Given the description of an element on the screen output the (x, y) to click on. 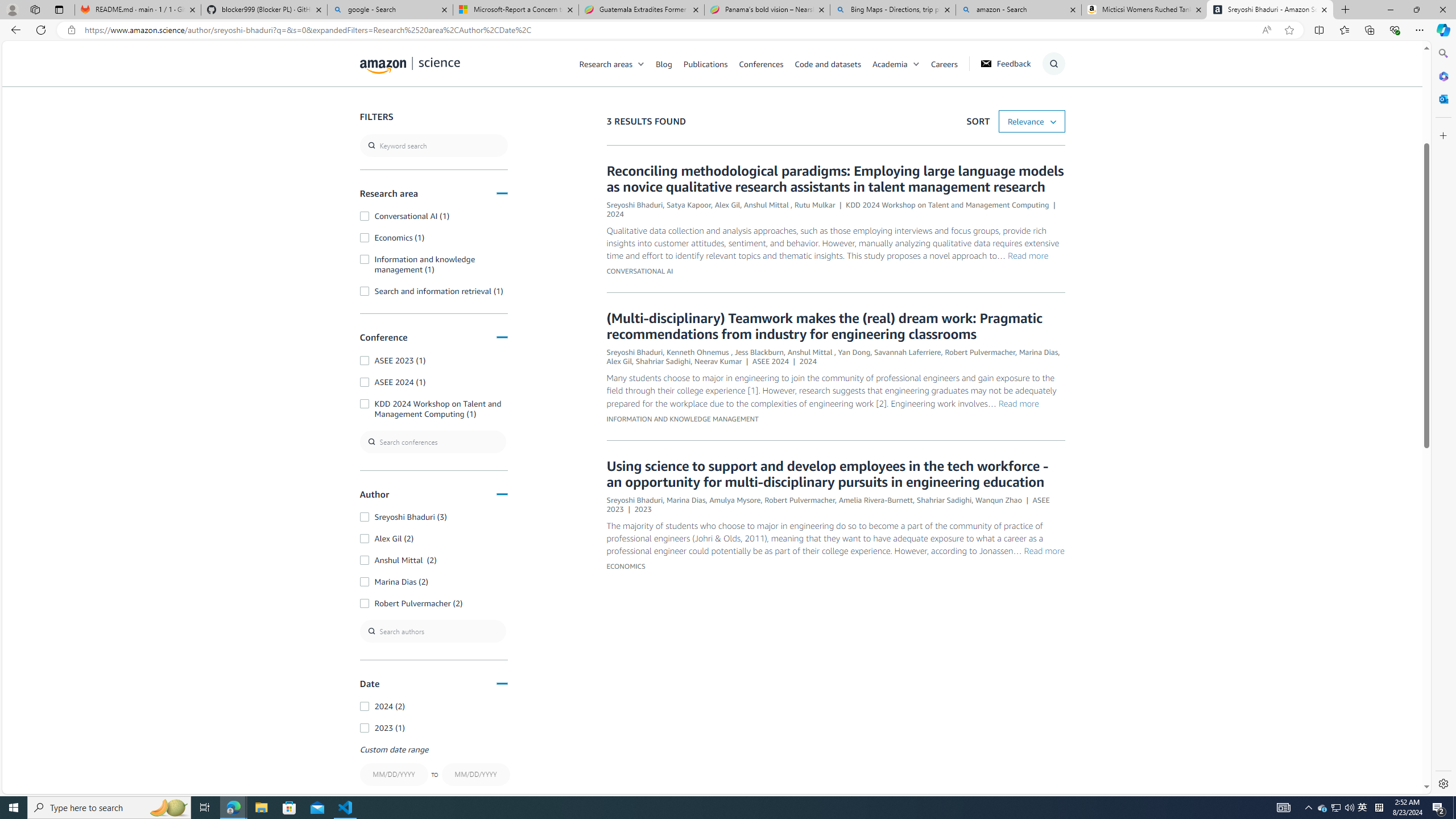
Show Search Form (1053, 63)
SORT (1031, 121)
Rutu Mulkar (814, 204)
Conferences (760, 63)
KDD 2024 Workshop on Talent and Management Computing (947, 204)
